Given the description of an element on the screen output the (x, y) to click on. 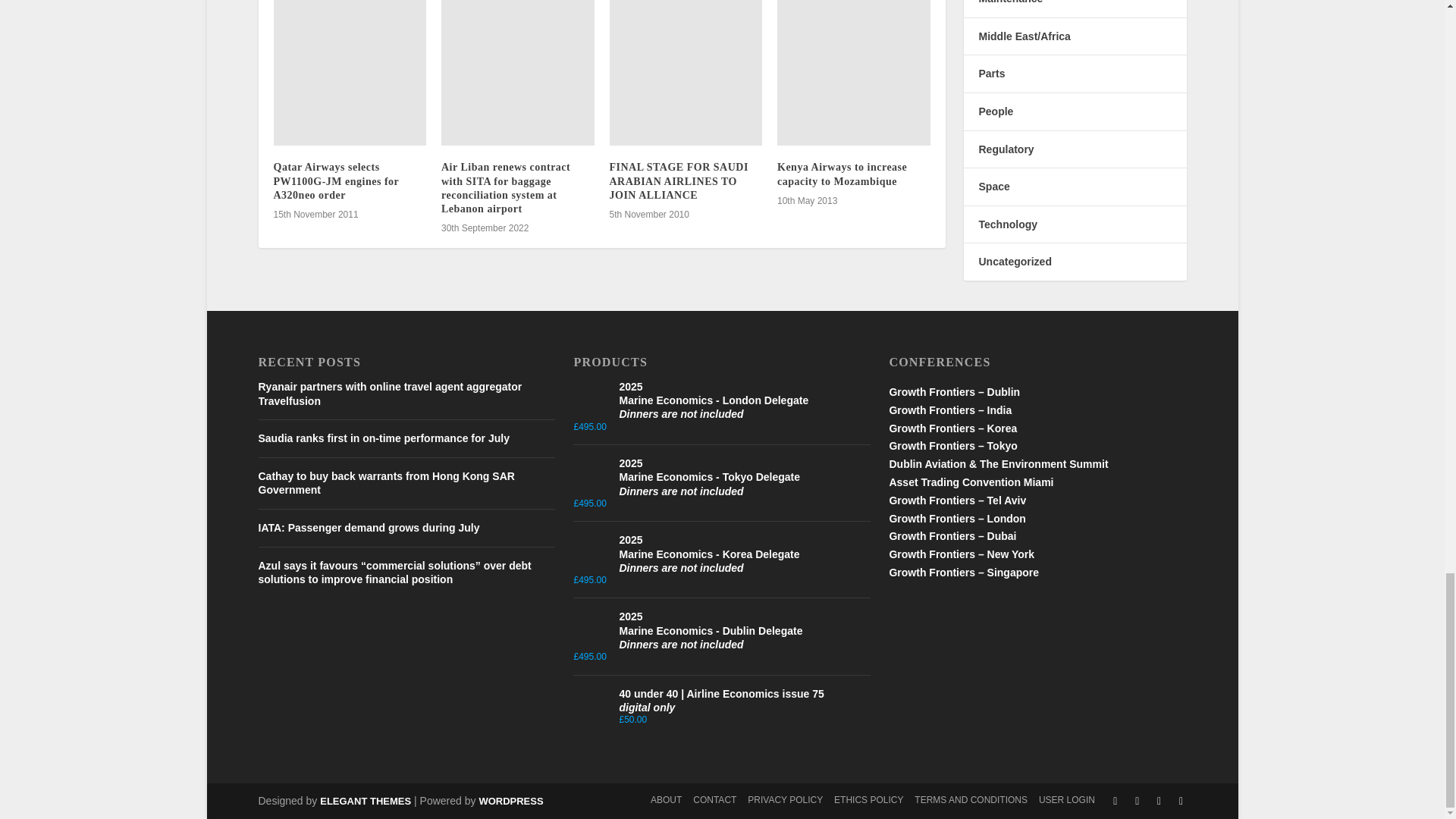
Kenya Airways to increase capacity to Mozambique (853, 73)
Qatar Airways selects PW1100G-JM engines for A320neo order (349, 73)
FINAL STAGE FOR SAUDI ARABIAN AIRLINES TO JOIN ALLIANCE (686, 73)
